Given the description of an element on the screen output the (x, y) to click on. 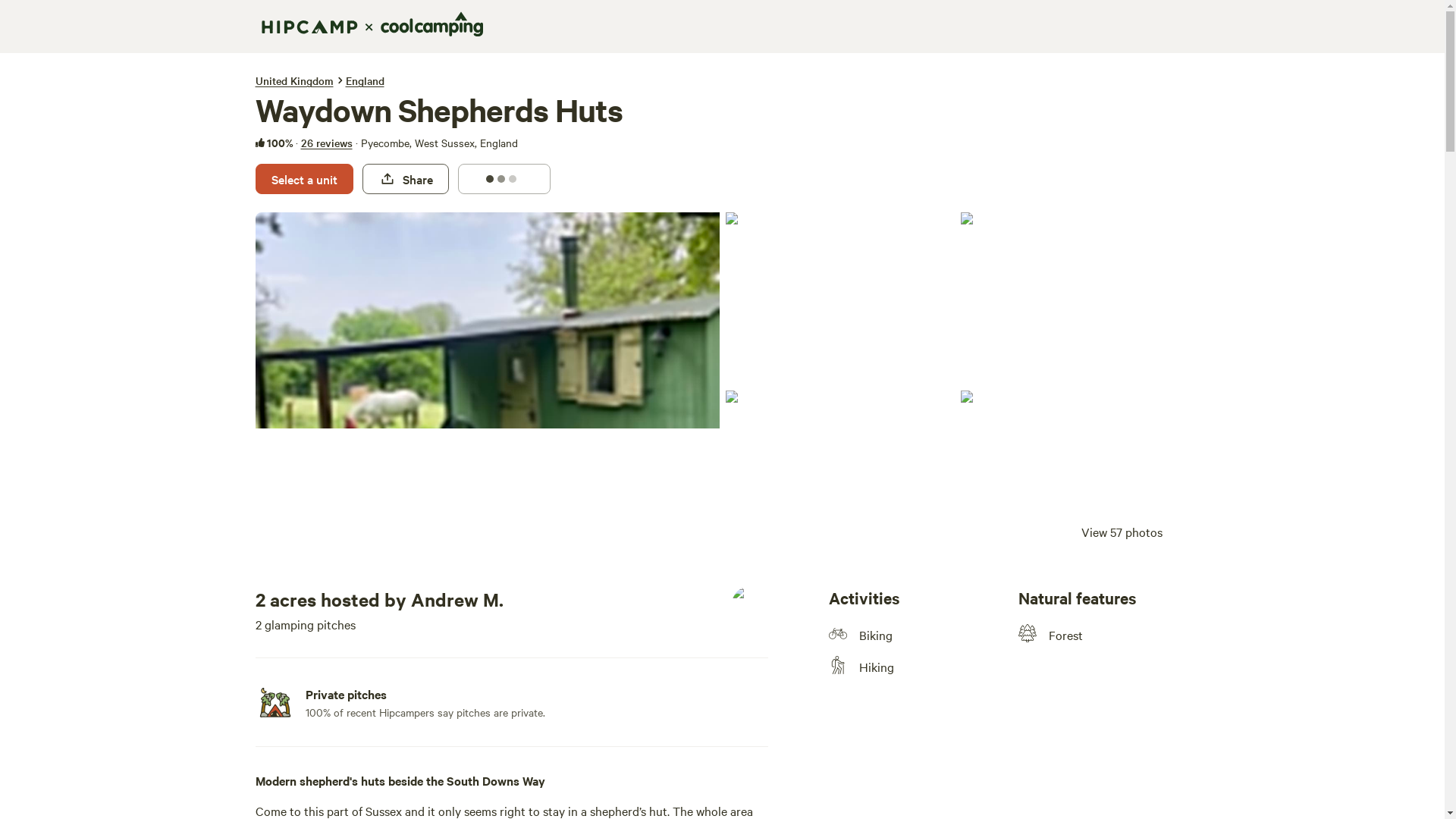
England (365, 80)
United Kingdom (293, 80)
Select a unit (303, 178)
26 reviews (325, 142)
England (365, 79)
Share (405, 178)
